Given the description of an element on the screen output the (x, y) to click on. 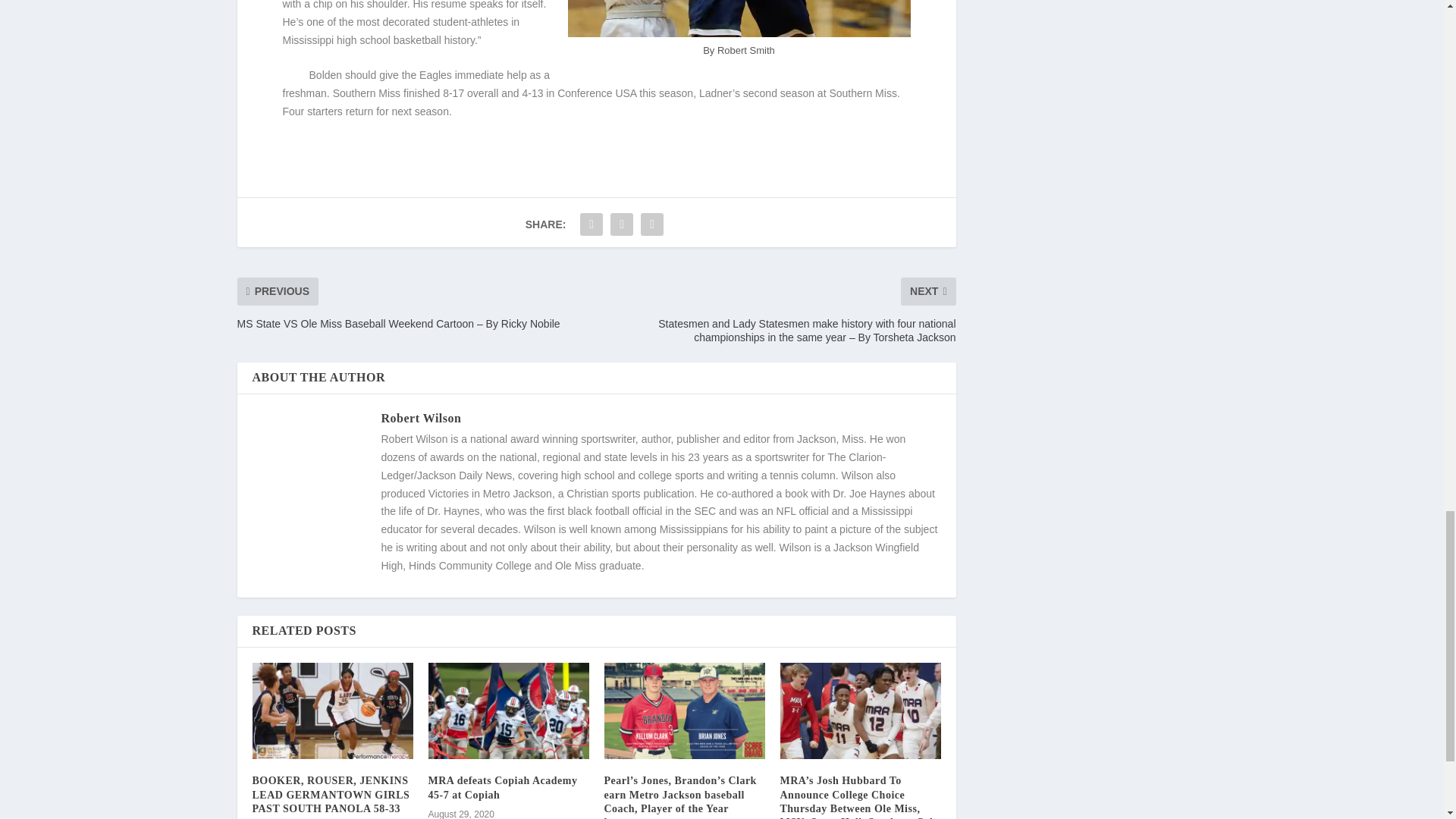
MRA defeats Copiah Academy 45-7 at Copiah (502, 787)
MRA defeats Copiah Academy 45-7 at Copiah (508, 710)
View all posts by Robert Wilson (420, 418)
Robert Wilson (420, 418)
